Given the description of an element on the screen output the (x, y) to click on. 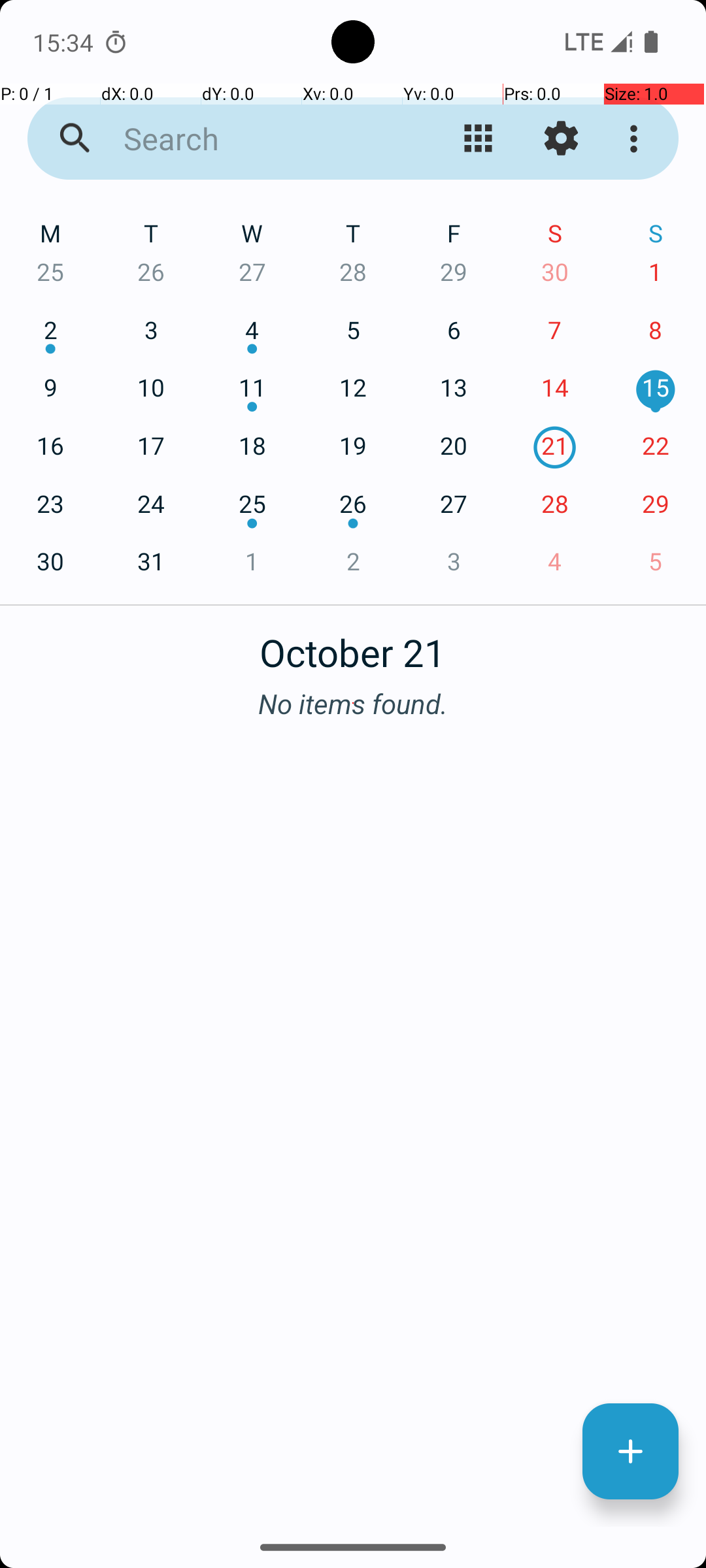
October 21 Element type: android.widget.TextView (352, 644)
